Given the description of an element on the screen output the (x, y) to click on. 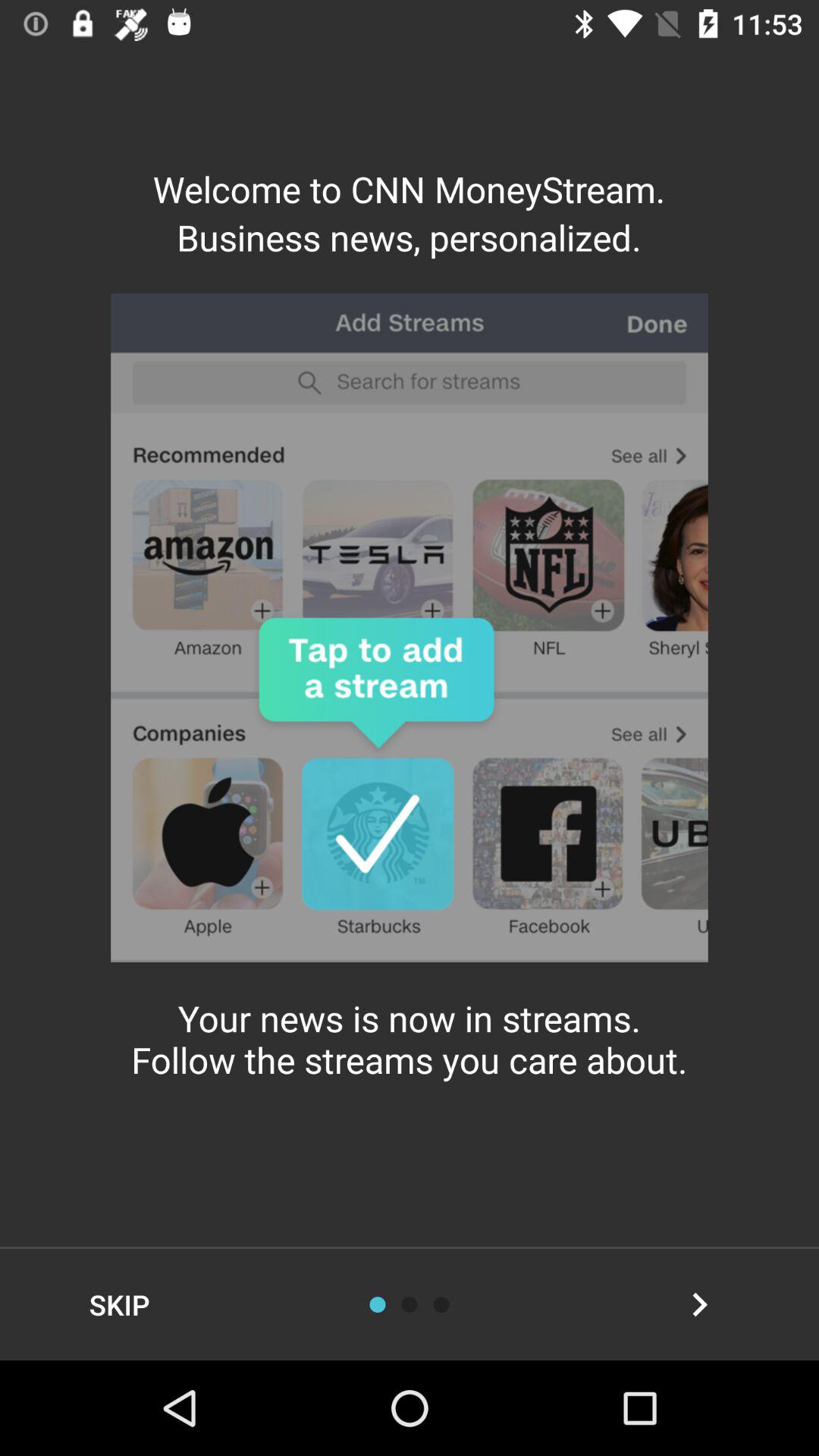
open the item at the bottom left corner (119, 1304)
